Given the description of an element on the screen output the (x, y) to click on. 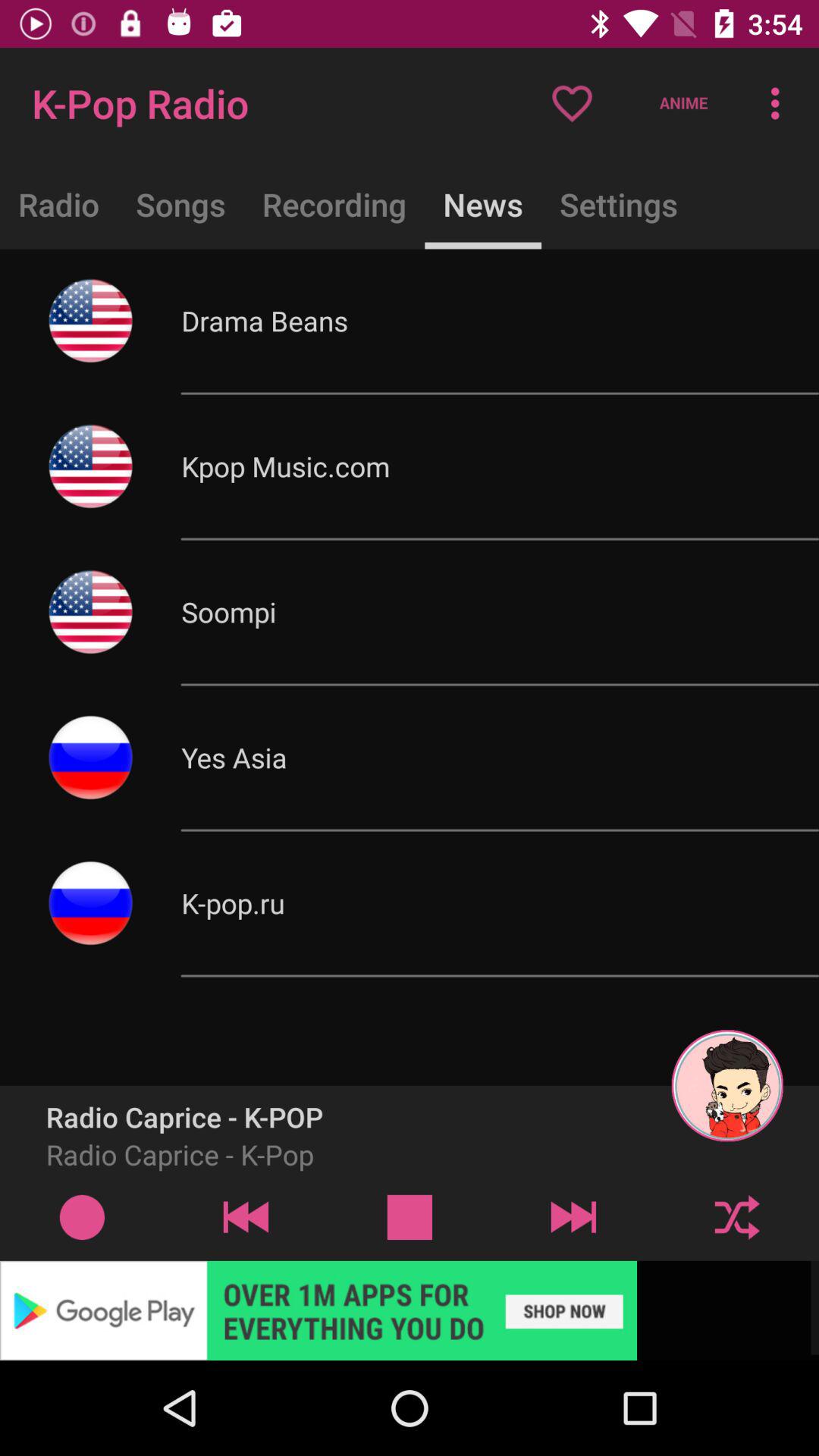
go to next song (573, 1216)
